Given the description of an element on the screen output the (x, y) to click on. 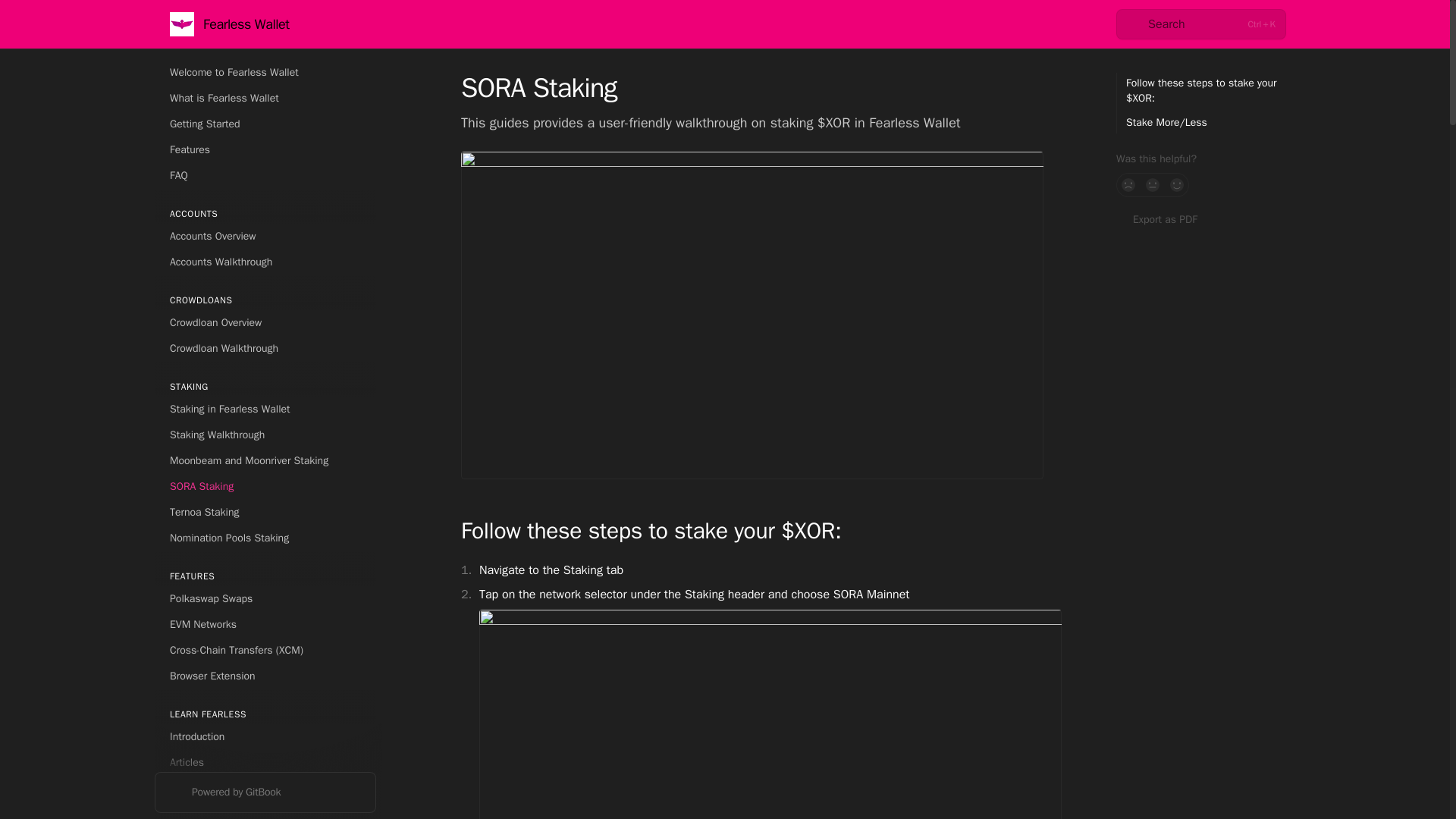
Getting Started (264, 124)
FAQ (264, 175)
Welcome to Fearless Wallet (264, 72)
Crowdloan Walkthrough (264, 348)
Features (264, 150)
Staking Walkthrough (264, 435)
Moonbeam and Moonriver Staking (264, 460)
Accounts Overview (264, 236)
Not sure (1152, 184)
Fearless Wallet (229, 24)
